Given the description of an element on the screen output the (x, y) to click on. 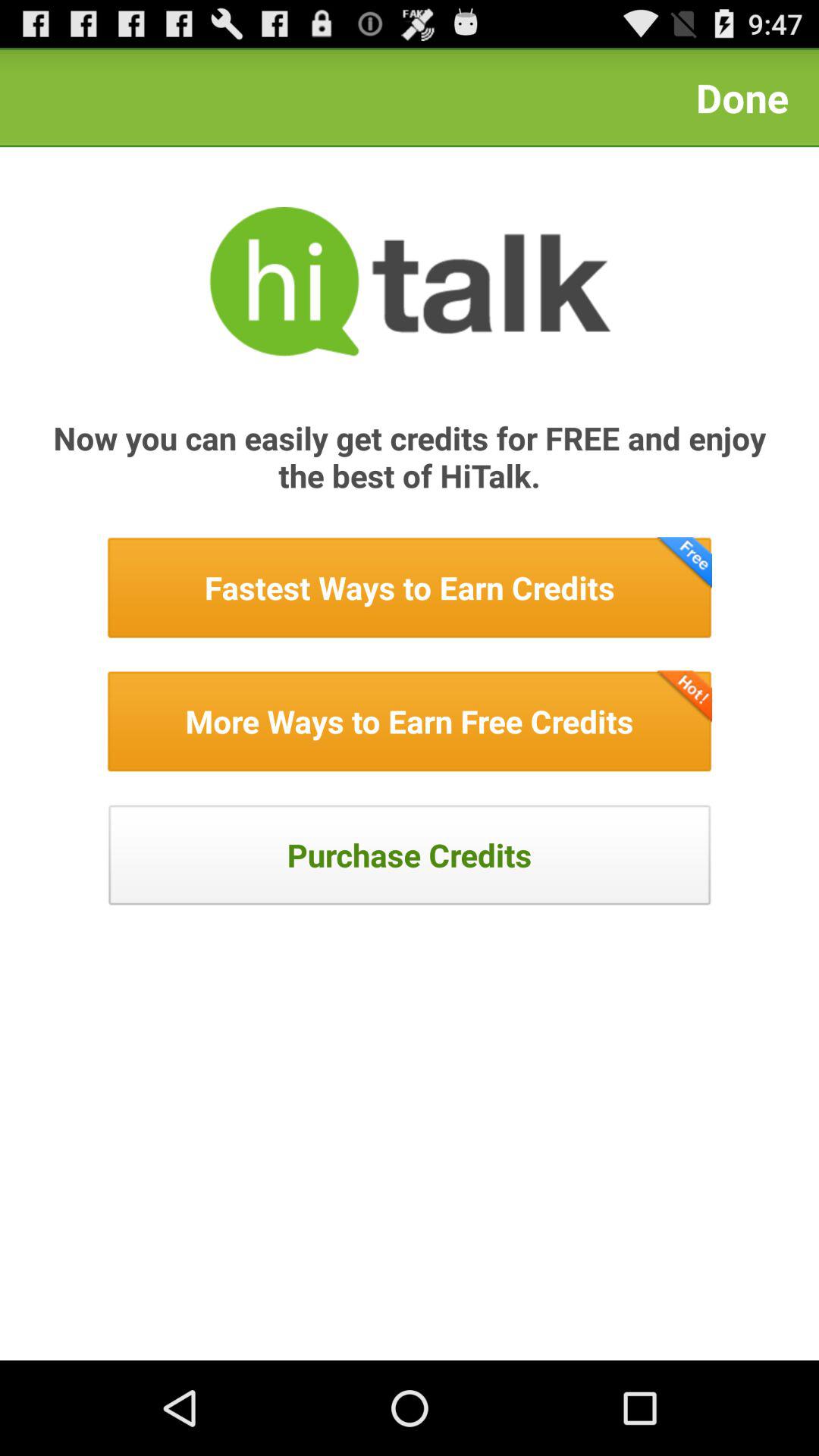
view fastest way to earn credits (409, 587)
